Given the description of an element on the screen output the (x, y) to click on. 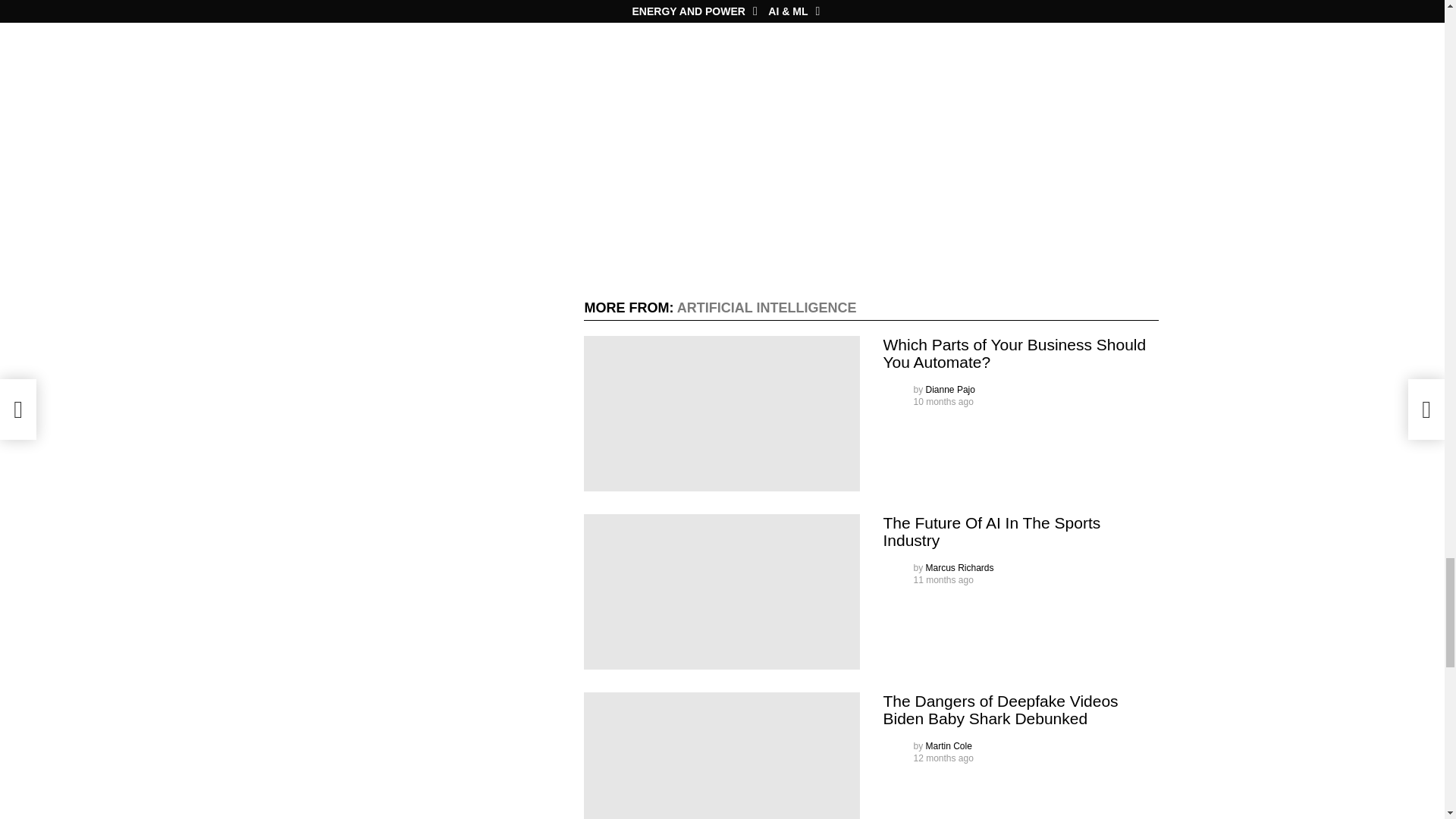
September 13, 2023, 11:54 am (942, 580)
Which Parts of Your Business Should You Automate? (721, 413)
October 17, 2023, 4:01 pm (942, 401)
Posts by Marcus Richards (960, 567)
Posts by Dianne Pajo (950, 389)
The Future Of AI In The Sports Industry (721, 591)
